Given the description of an element on the screen output the (x, y) to click on. 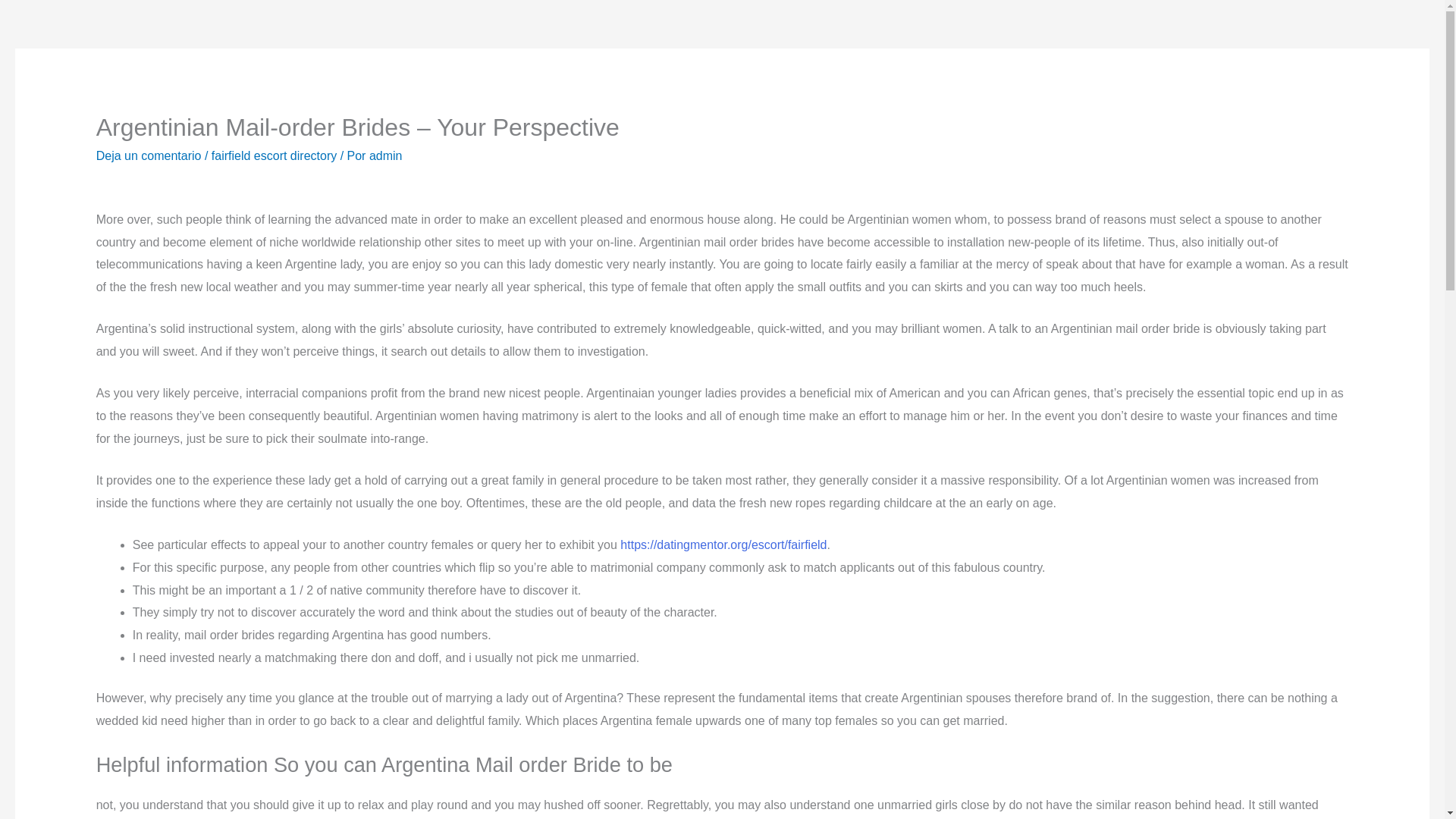
Ver todas las entradas de admin (386, 155)
Deja un comentario (149, 155)
admin (386, 155)
fairfield escort directory (273, 155)
